Given the description of an element on the screen output the (x, y) to click on. 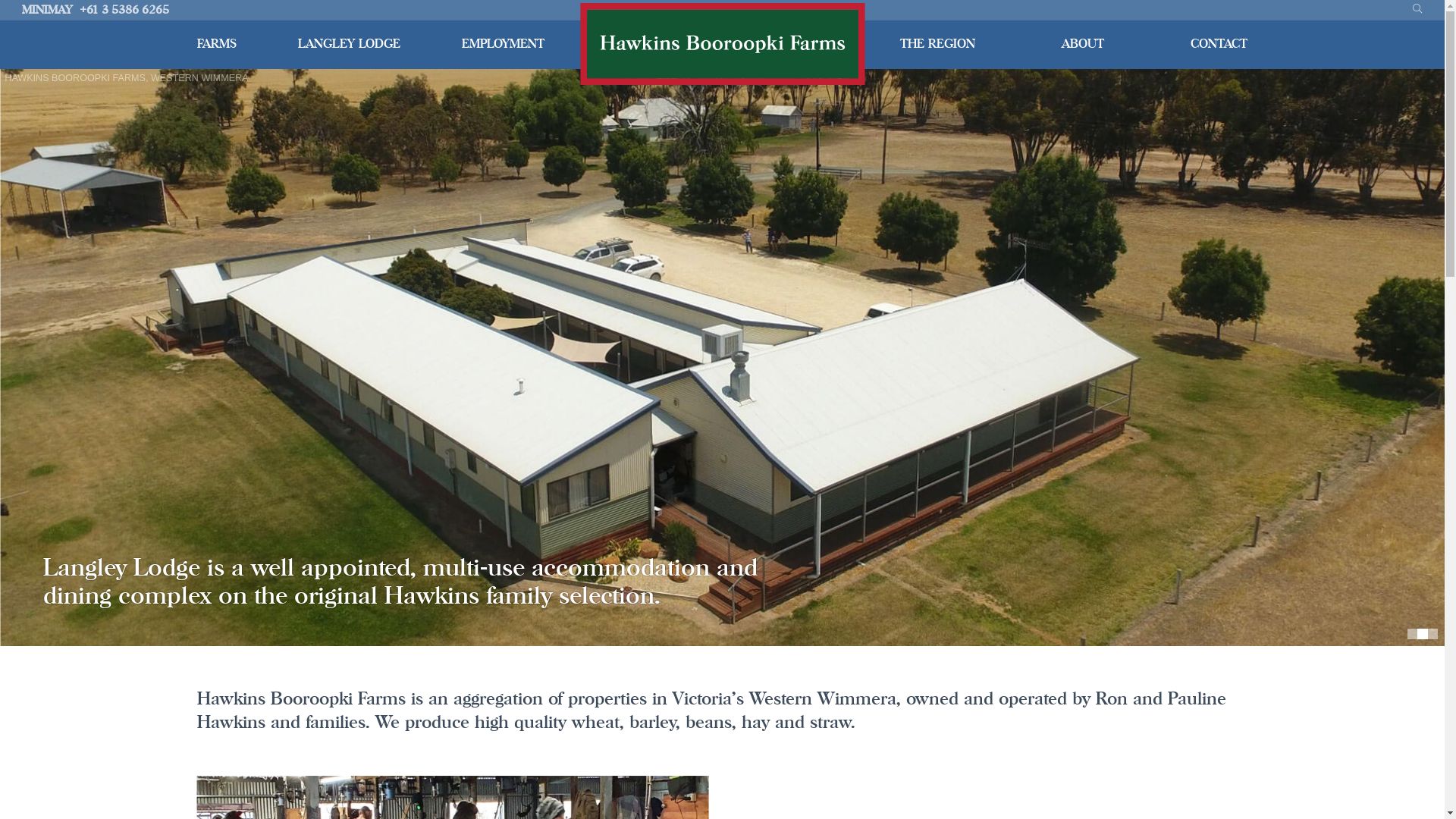
2 Element type: text (1422, 633)
LANGLEY LODGE Element type: text (349, 43)
ABOUT Element type: text (1082, 43)
EMPLOYMENT Element type: text (502, 43)
+61 3 5386 6265 Element type: text (124, 9)
FARMS Element type: text (216, 43)
CONTACT Element type: text (1218, 43)
1 Element type: text (1412, 633)
Hawkins Booroopki Farms - Langley Lodge Aerial Element type: hover (722, 357)
3 Element type: text (1432, 633)
THE REGION Element type: text (936, 43)
